Given the description of an element on the screen output the (x, y) to click on. 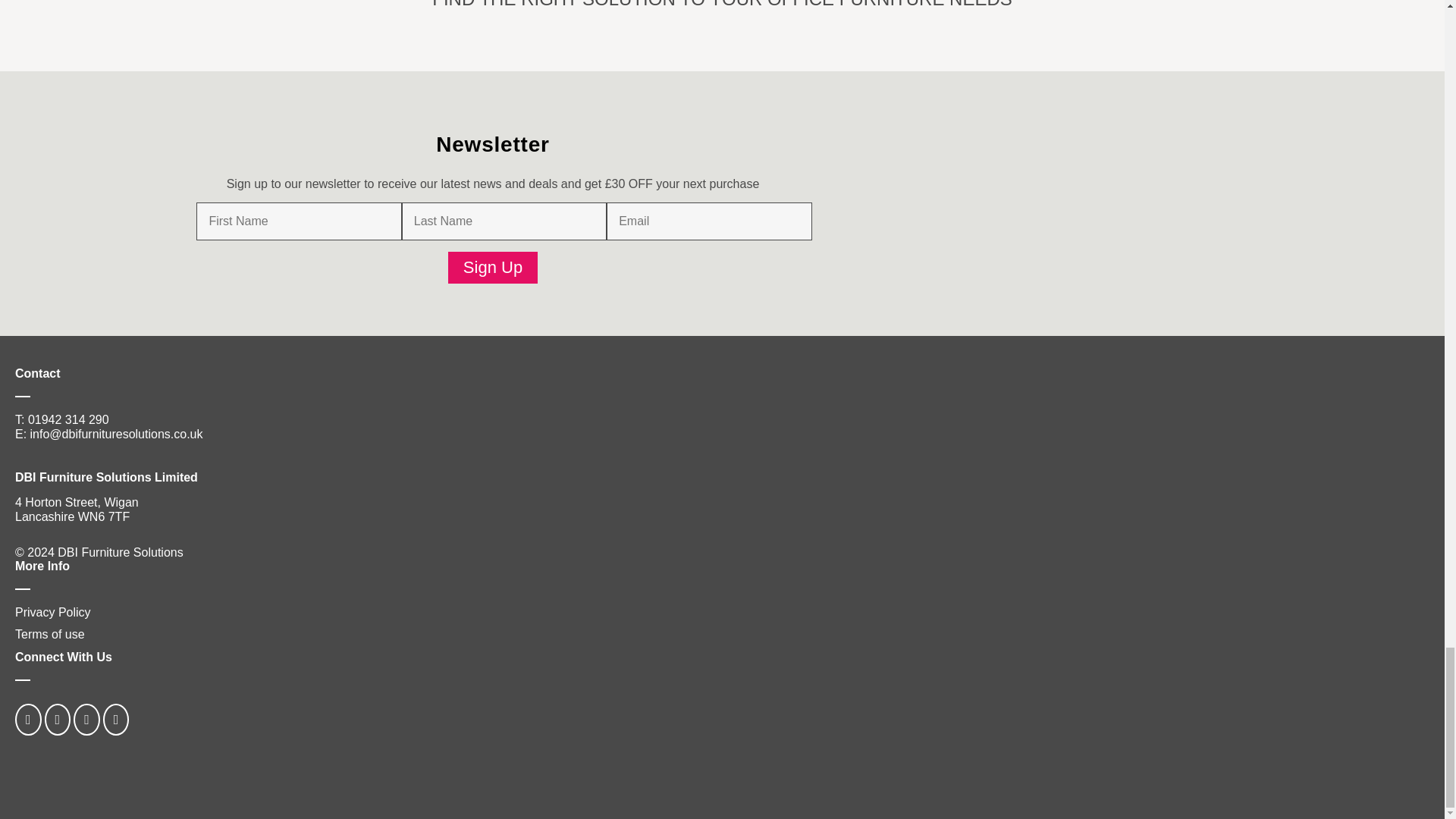
Sign Up (492, 267)
